Given the description of an element on the screen output the (x, y) to click on. 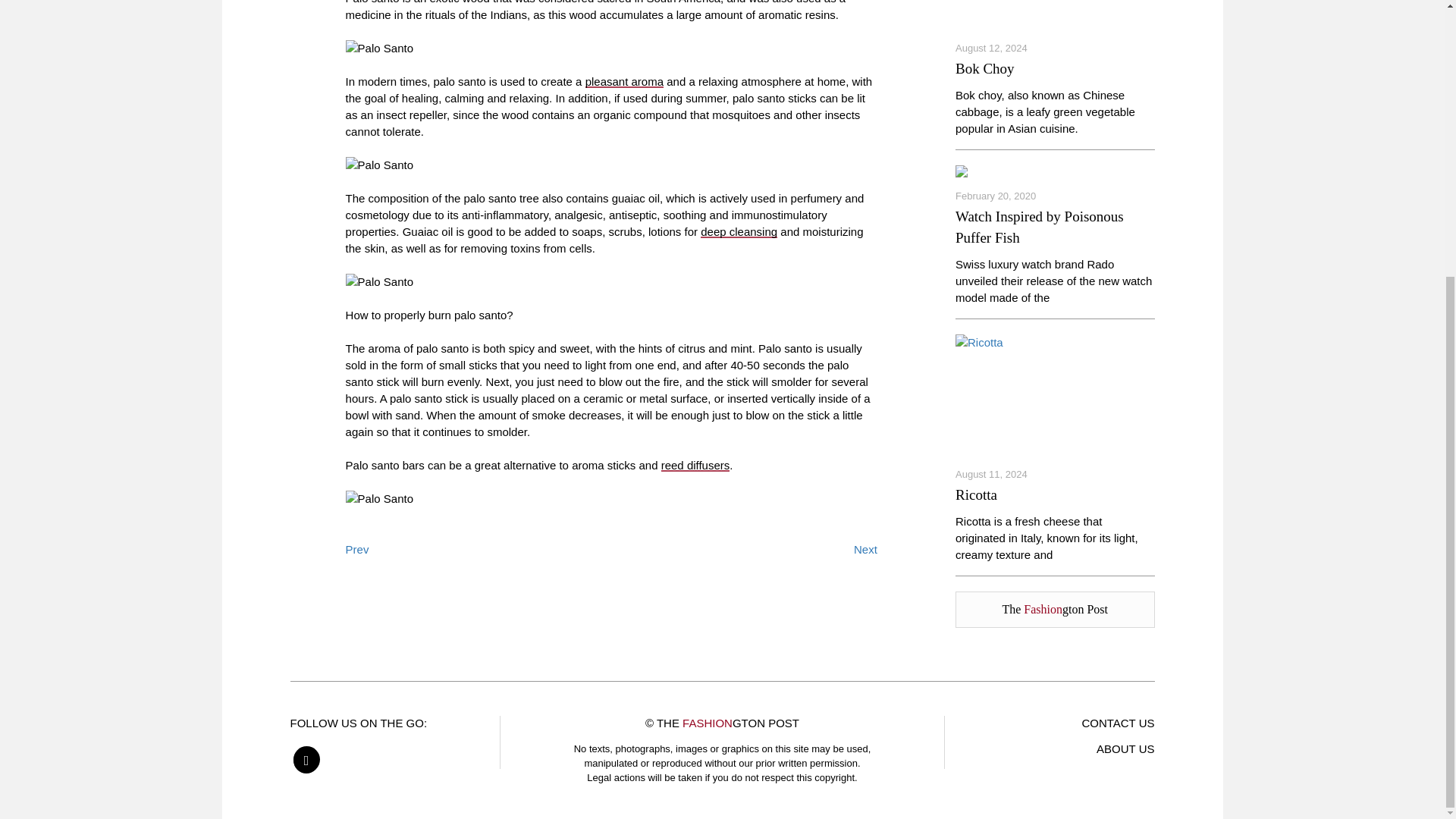
reed diffusers (695, 464)
pleasant aroma (624, 81)
THE FASHIONGTON POST (727, 722)
ABOUT US (1125, 748)
CONTACT US (1117, 722)
deep cleansing (738, 231)
Prev (357, 549)
Next (865, 549)
